Given the description of an element on the screen output the (x, y) to click on. 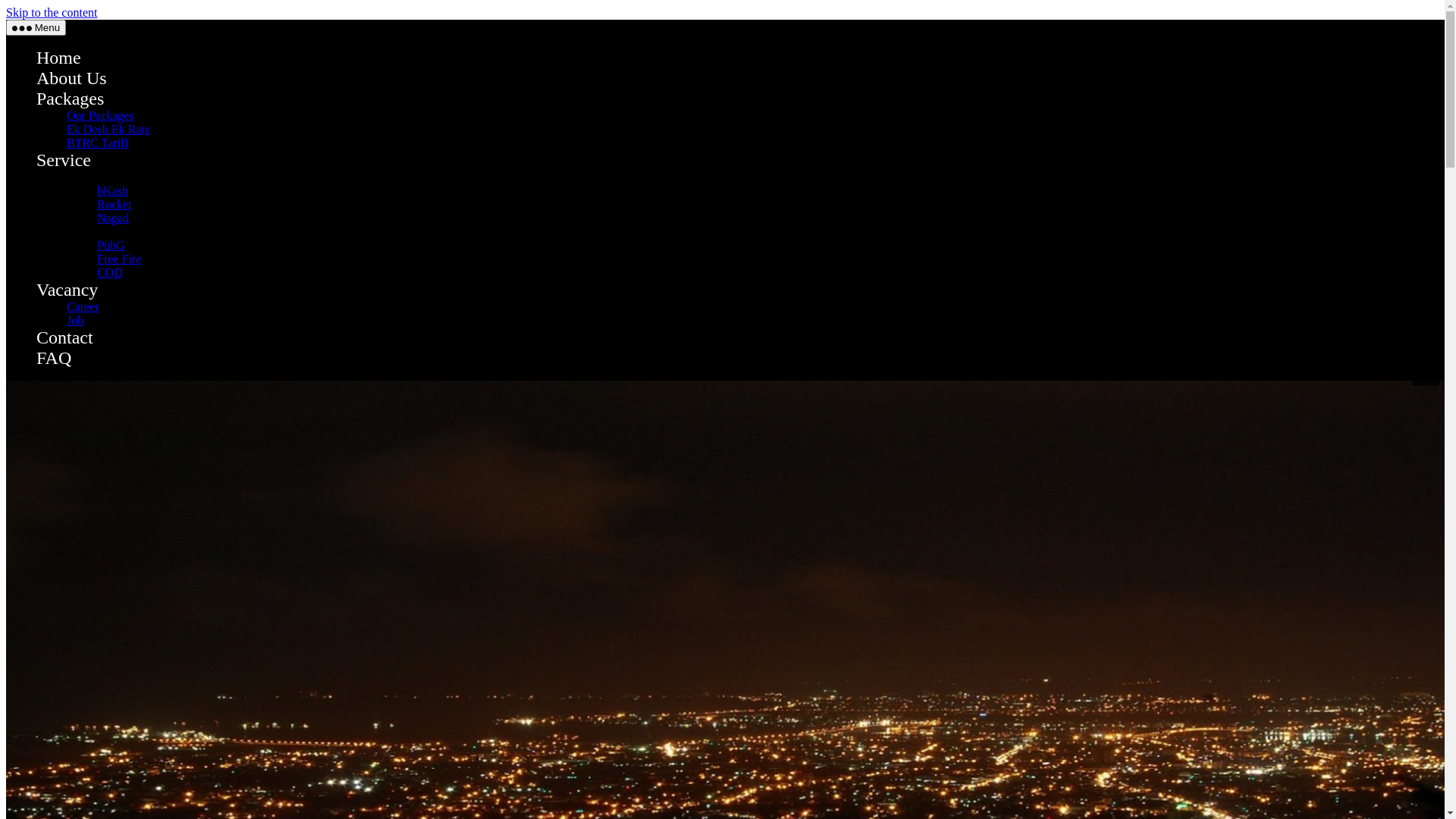
Service Element type: text (63, 159)
COD Element type: text (109, 272)
Show sub menu Element type: text (178, 215)
Contact Element type: text (64, 337)
Vacancy Element type: text (56, 271)
Show sub menu Element type: text (156, 158)
Our Packages Element type: text (99, 100)
Career Element type: text (82, 306)
Ek Desh Ek Rate Element type: text (108, 113)
Service Element type: text (54, 141)
BTRC Tariff Element type: text (97, 142)
Career Element type: text (82, 286)
Packages Element type: text (69, 98)
Rocket Element type: text (114, 203)
Home Element type: text (58, 57)
bKash Element type: text (112, 172)
Show sub menu Element type: text (122, 142)
Bill Pay Element type: text (86, 157)
Close Menu Element type: text (46, 28)
BTRC Tariff Element type: text (97, 127)
Show sub menu Element type: text (127, 272)
Job Element type: text (74, 300)
Packages Element type: text (58, 84)
Show sub menu Element type: text (131, 86)
Home Element type: text (50, 56)
COD Element type: text (109, 257)
Menu Element type: text (35, 27)
FAQ Element type: text (47, 327)
Rocket Element type: text (114, 186)
FAQ Element type: text (53, 357)
About Us Element type: text (59, 70)
About Us Element type: text (71, 77)
PubG Element type: text (110, 244)
Vacancy Element type: text (66, 289)
Skip to the content Element type: text (51, 12)
Nagad Element type: text (112, 200)
PubG Element type: text (110, 229)
Ek Desh Ek Rate Element type: text (108, 128)
Free Fire Element type: text (119, 258)
Bill Pay Element type: text (86, 176)
Games Issue Element type: text (97, 214)
Contact Element type: text (55, 313)
Free Fire Element type: text (119, 243)
Job Element type: text (74, 319)
Games Issue Element type: text (97, 231)
Nagad Element type: text (112, 217)
Our Packages Element type: text (99, 115)
bKash Element type: text (112, 190)
